Given the description of an element on the screen output the (x, y) to click on. 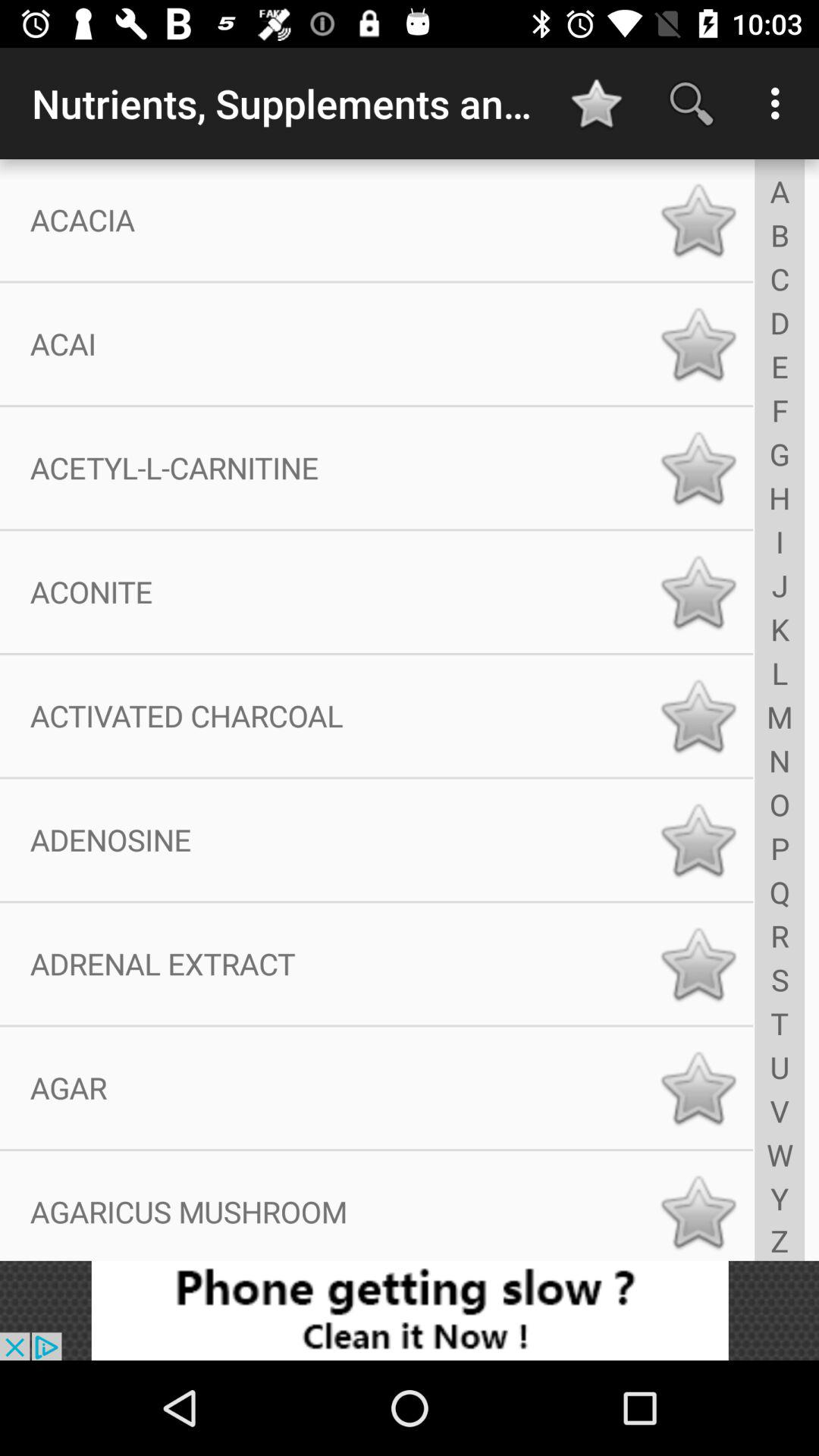
favourite supplement (697, 468)
